Given the description of an element on the screen output the (x, y) to click on. 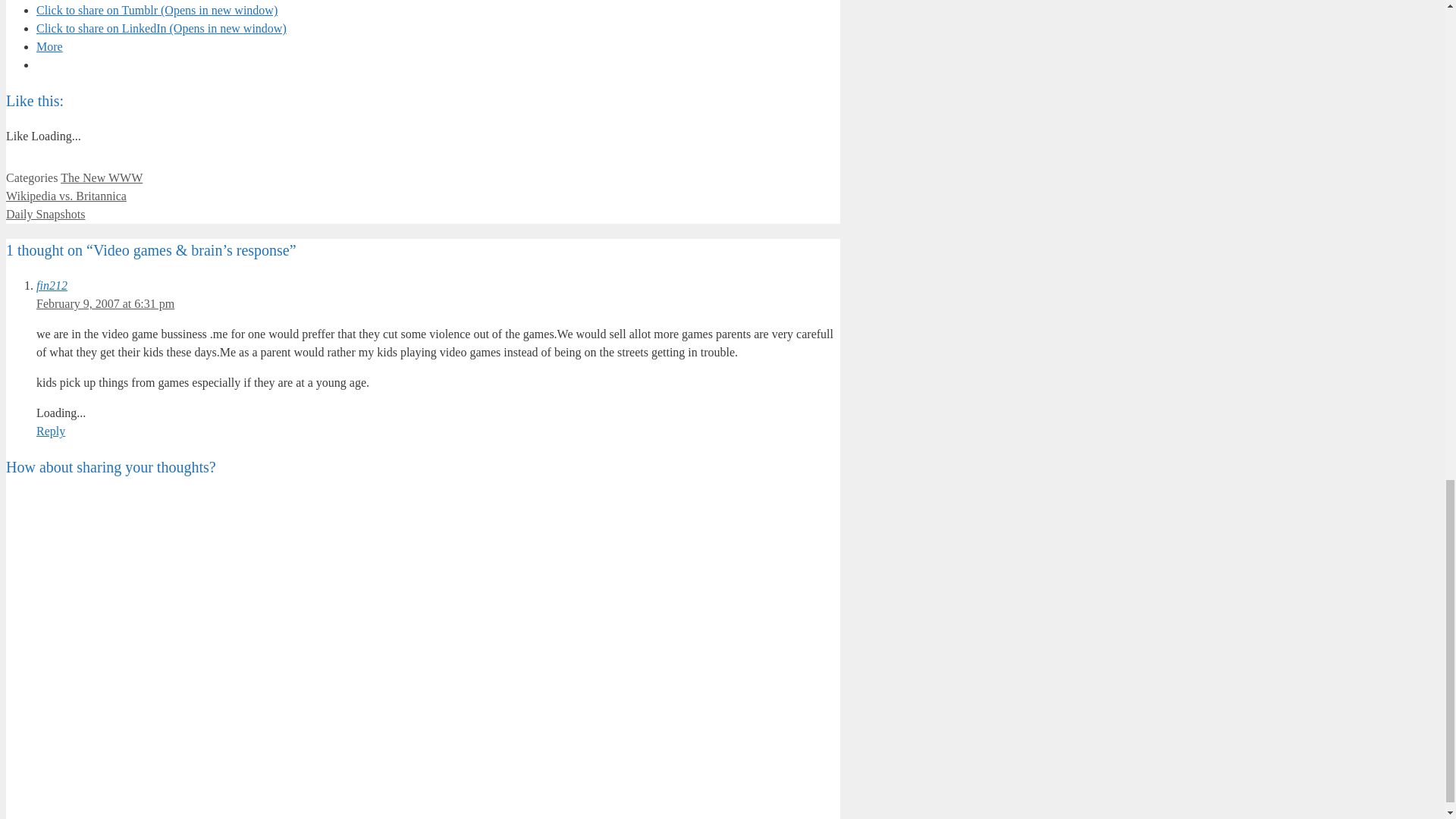
Click to share on Tumblr (157, 10)
Click to share on LinkedIn (161, 28)
